Given the description of an element on the screen output the (x, y) to click on. 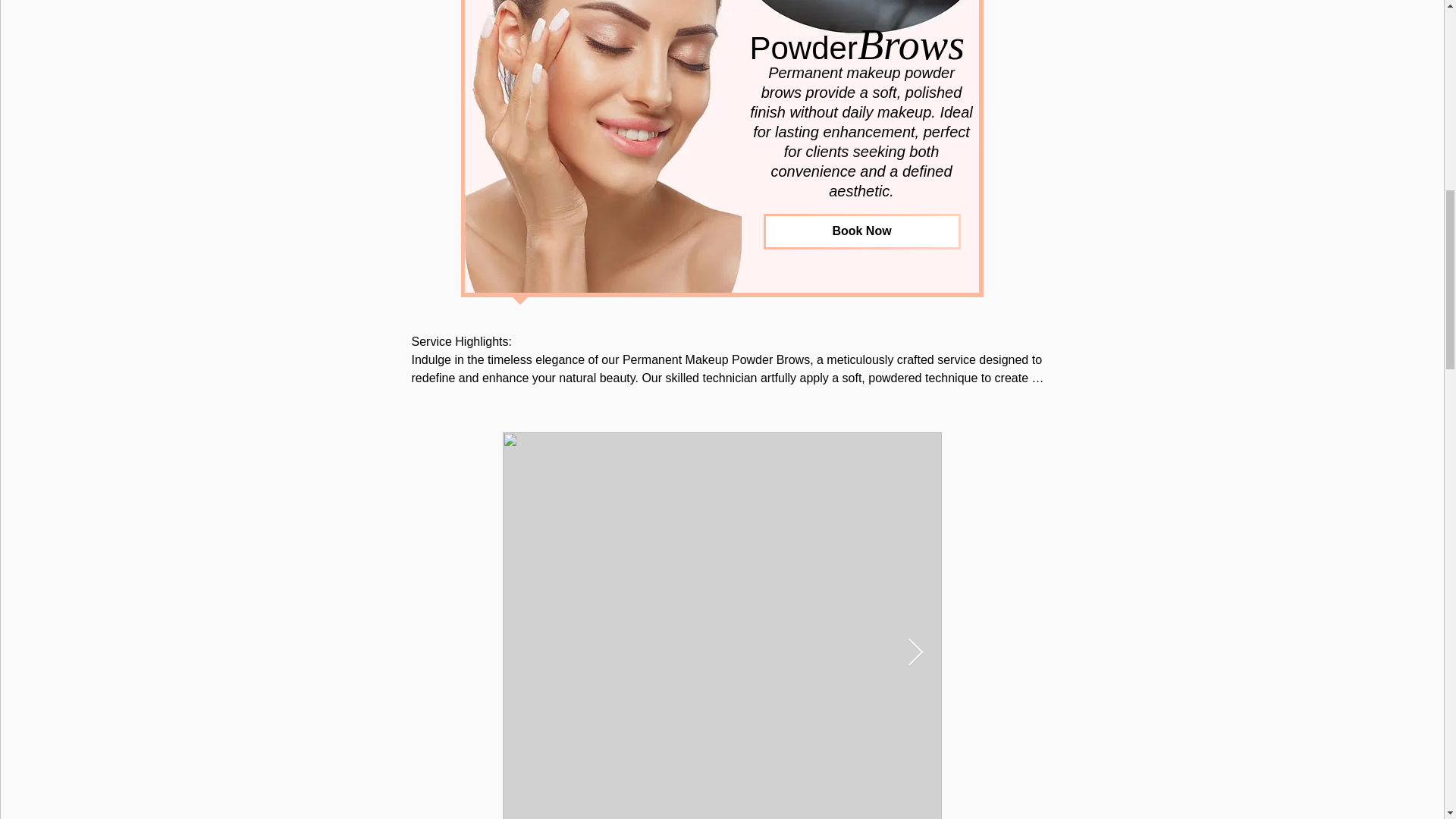
Book Now (860, 231)
